Given the description of an element on the screen output the (x, y) to click on. 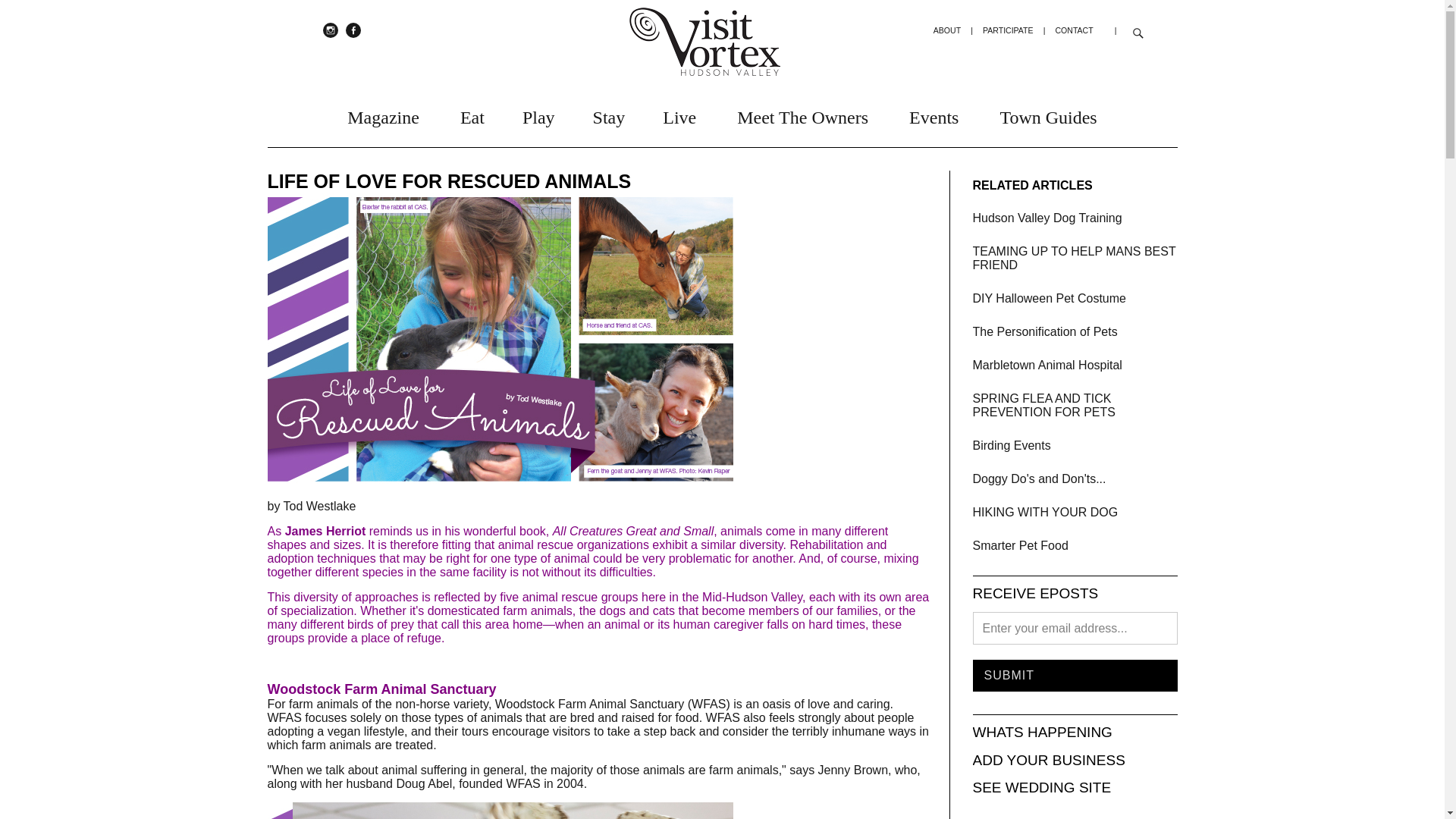
Stay (609, 114)
CONTACT (1073, 30)
Facebook (353, 29)
Events (933, 114)
Enter your email address... (1074, 628)
Play (538, 114)
Hudson Valley Dog Training (1046, 217)
Live (678, 114)
submit (1074, 675)
